Given the description of an element on the screen output the (x, y) to click on. 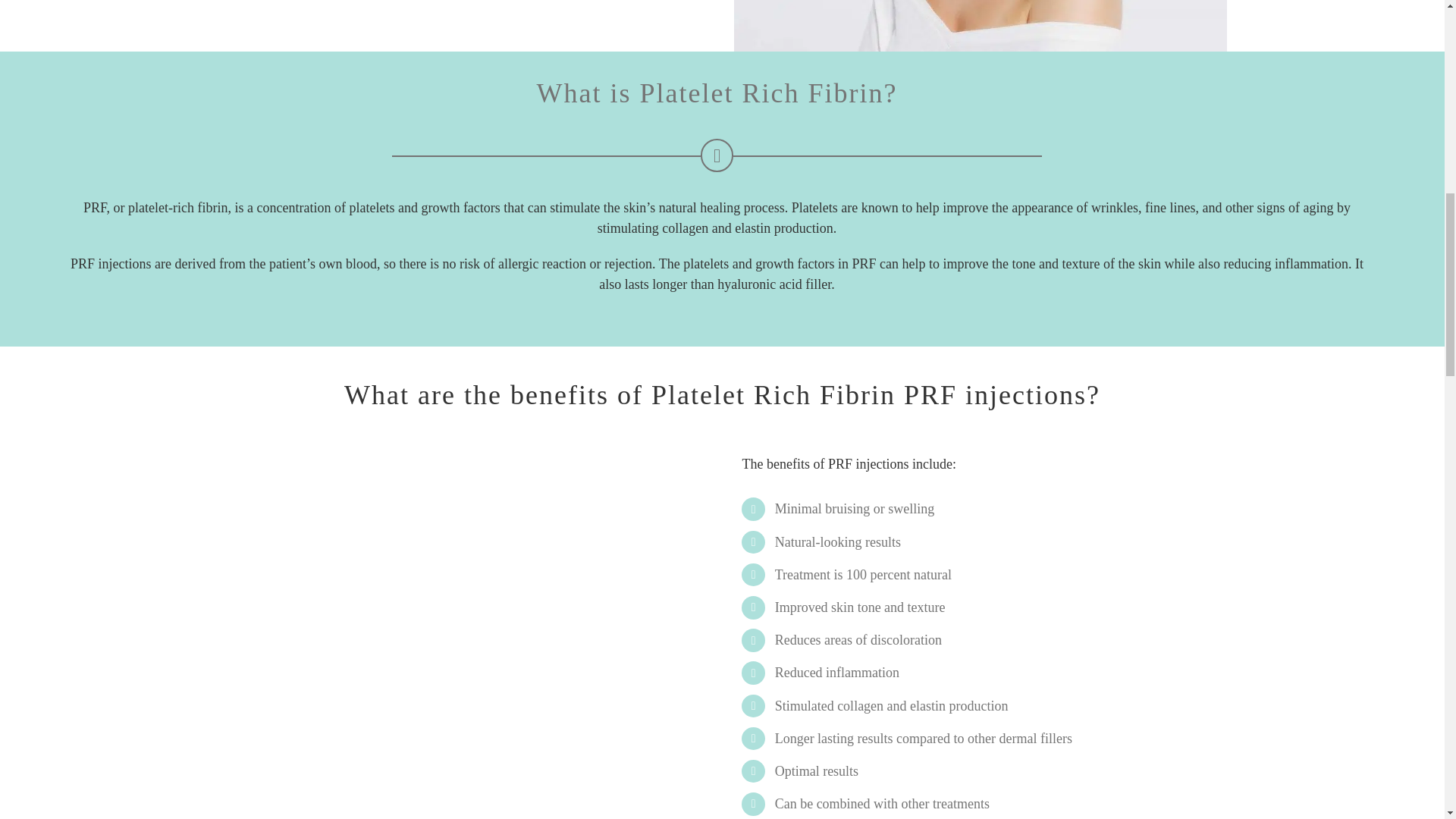
prf-injections (464, 517)
